Given the description of an element on the screen output the (x, y) to click on. 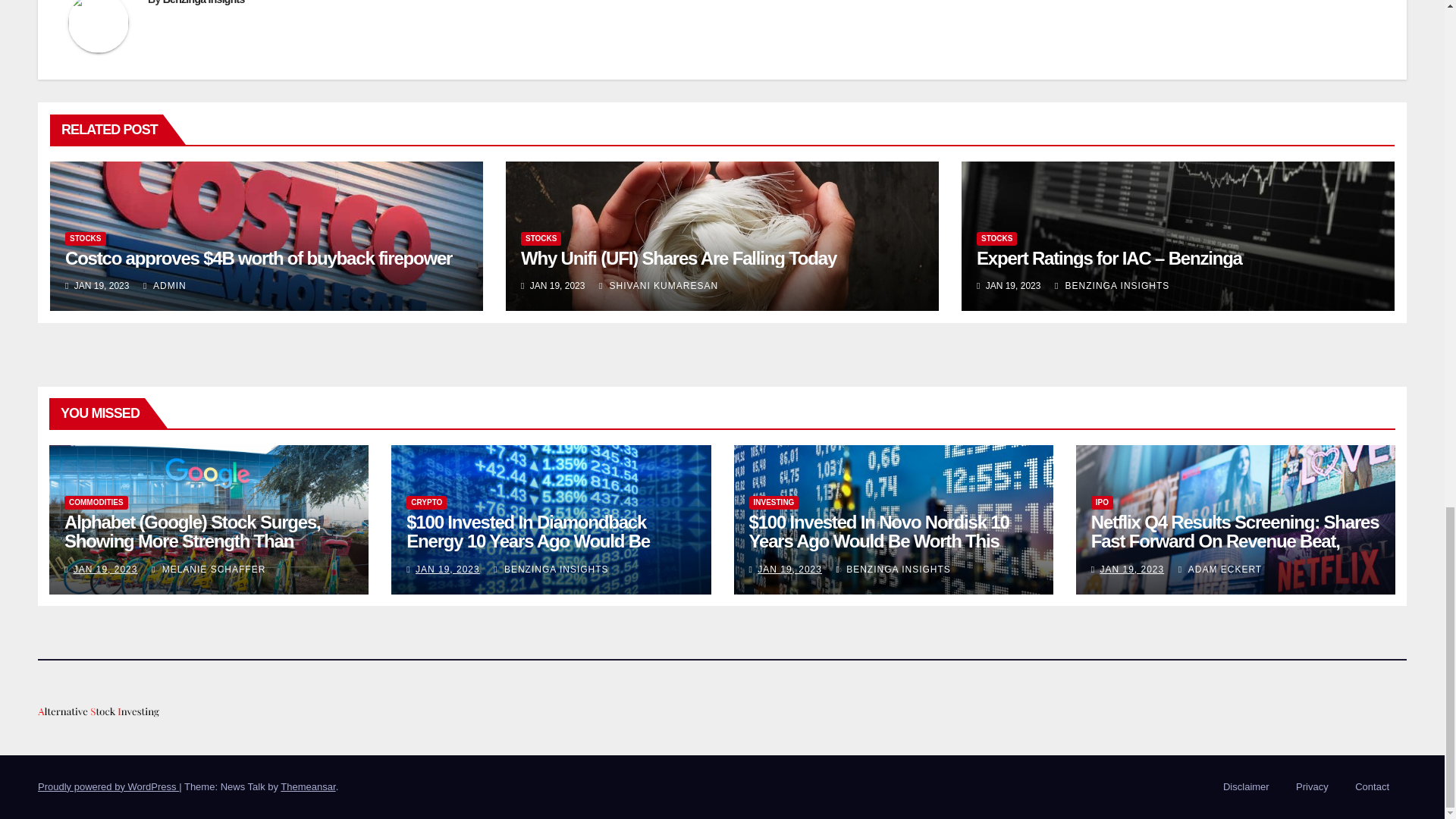
BENZINGA INSIGHTS (1111, 285)
STOCKS (996, 237)
STOCKS (85, 237)
SHIVANI KUMARESAN (657, 285)
ADMIN (164, 285)
Benzinga Insights (203, 2)
Disclaimer (1246, 786)
COMMODITIES (96, 501)
Privacy (1312, 786)
